Given the description of an element on the screen output the (x, y) to click on. 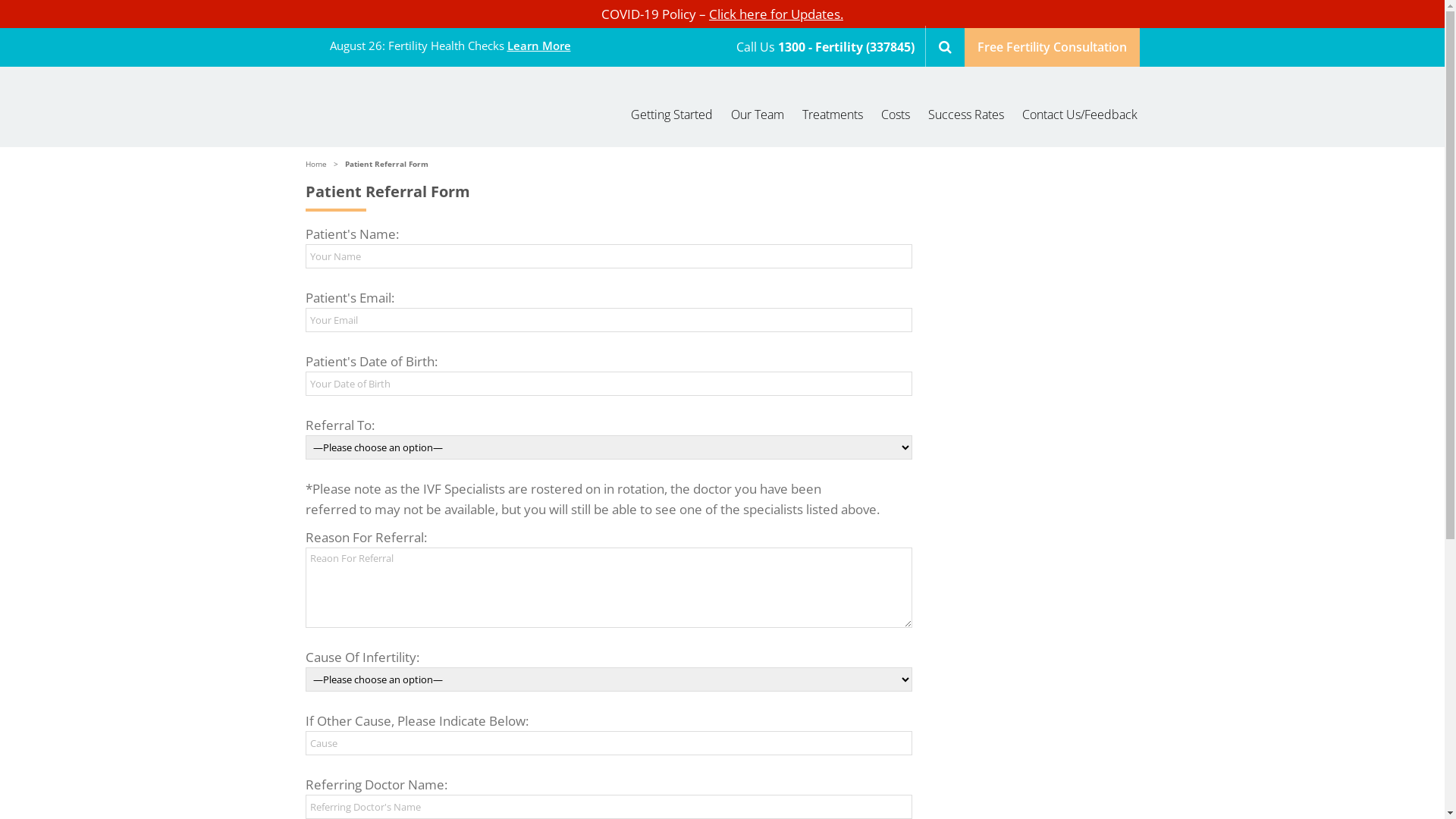
Costs Element type: text (895, 114)
Contact Us/Feedback Element type: text (1075, 114)
1300 - Fertility (337845) Element type: text (847, 46)
Free Fertility Consultation Element type: text (1051, 47)
Our Team Element type: text (757, 114)
Click here for Updates. Element type: text (776, 13)
Home Element type: text (315, 163)
Learn More Element type: text (538, 45)
Success Rates Element type: text (966, 114)
Treatments Element type: text (832, 114)
Getting Started Element type: text (671, 114)
